Given the description of an element on the screen output the (x, y) to click on. 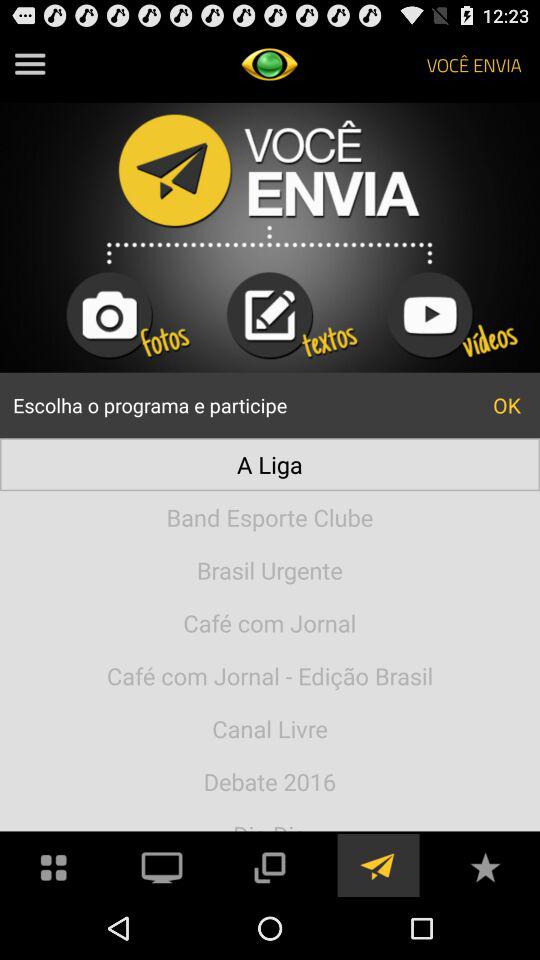
minimize/maximize page (269, 865)
